Given the description of an element on the screen output the (x, y) to click on. 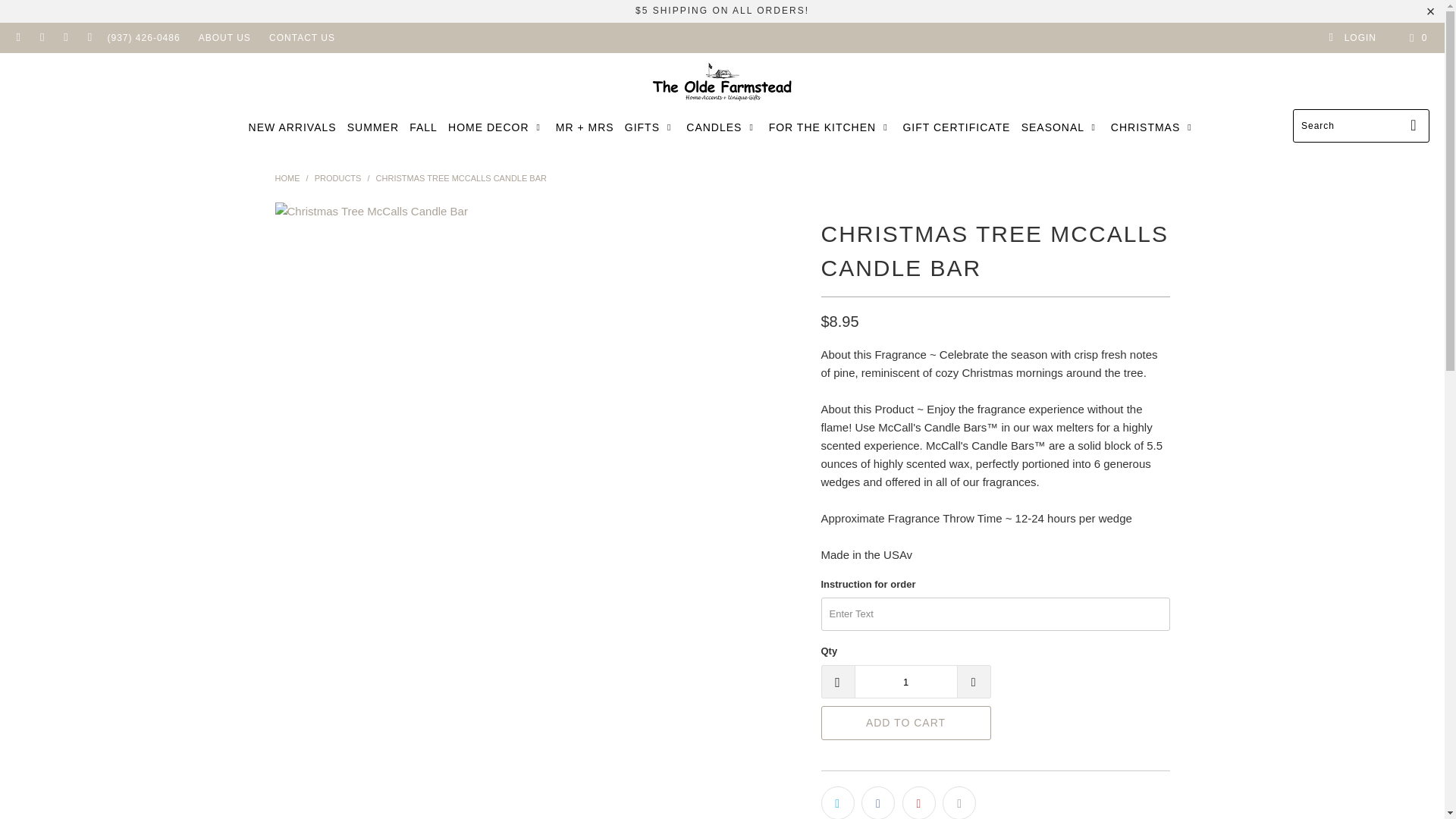
My Account  (1351, 37)
Share this on Pinterest (919, 802)
the olde farmstead (722, 84)
the olde farmstead on Facebook (17, 37)
the olde farmstead on YouTube (41, 37)
Products (337, 176)
the olde farmstead on Instagram (65, 37)
1 (904, 681)
Email the olde farmstead (89, 37)
Email this to a friend (958, 802)
the olde farmstead (287, 176)
Share this on Facebook (878, 802)
Share this on Twitter (837, 802)
